Given the description of an element on the screen output the (x, y) to click on. 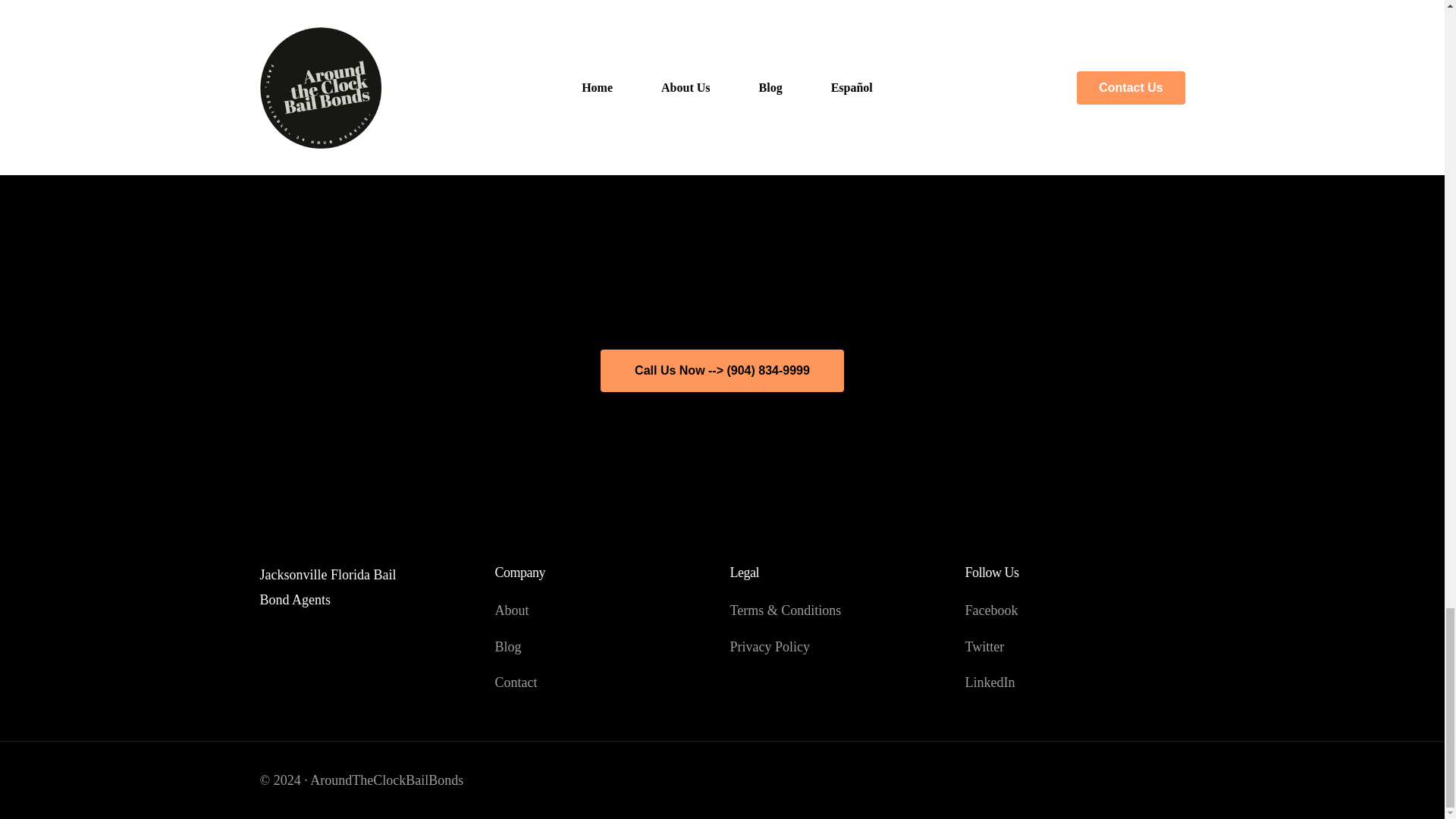
Contact (604, 682)
Facebook (1074, 610)
Privacy Policy (839, 646)
Blog (604, 646)
About (604, 610)
LinkedIn (1074, 682)
Twitter (1074, 646)
